Given the description of an element on the screen output the (x, y) to click on. 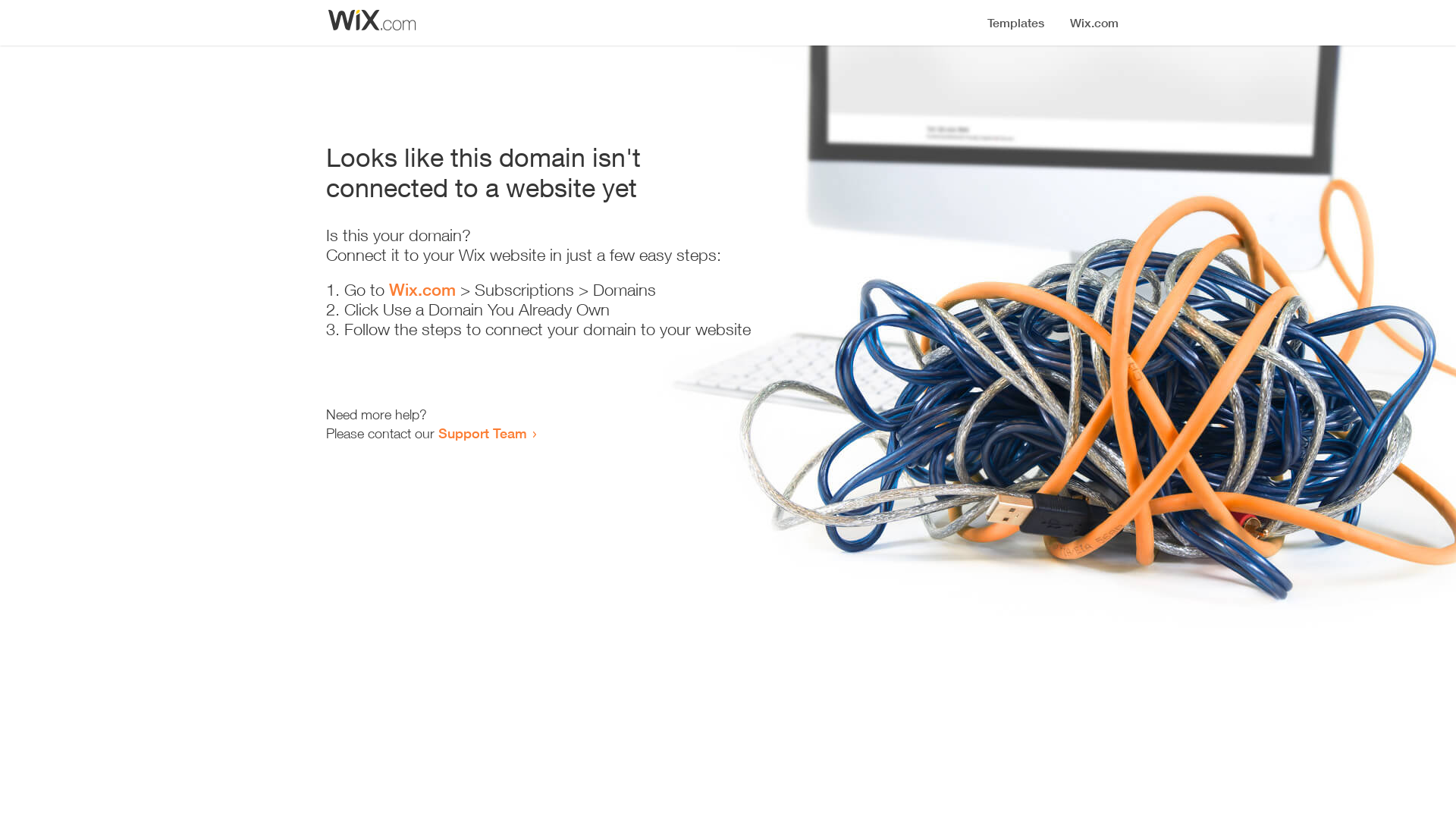
Wix.com Element type: text (422, 289)
Support Team Element type: text (482, 432)
